Given the description of an element on the screen output the (x, y) to click on. 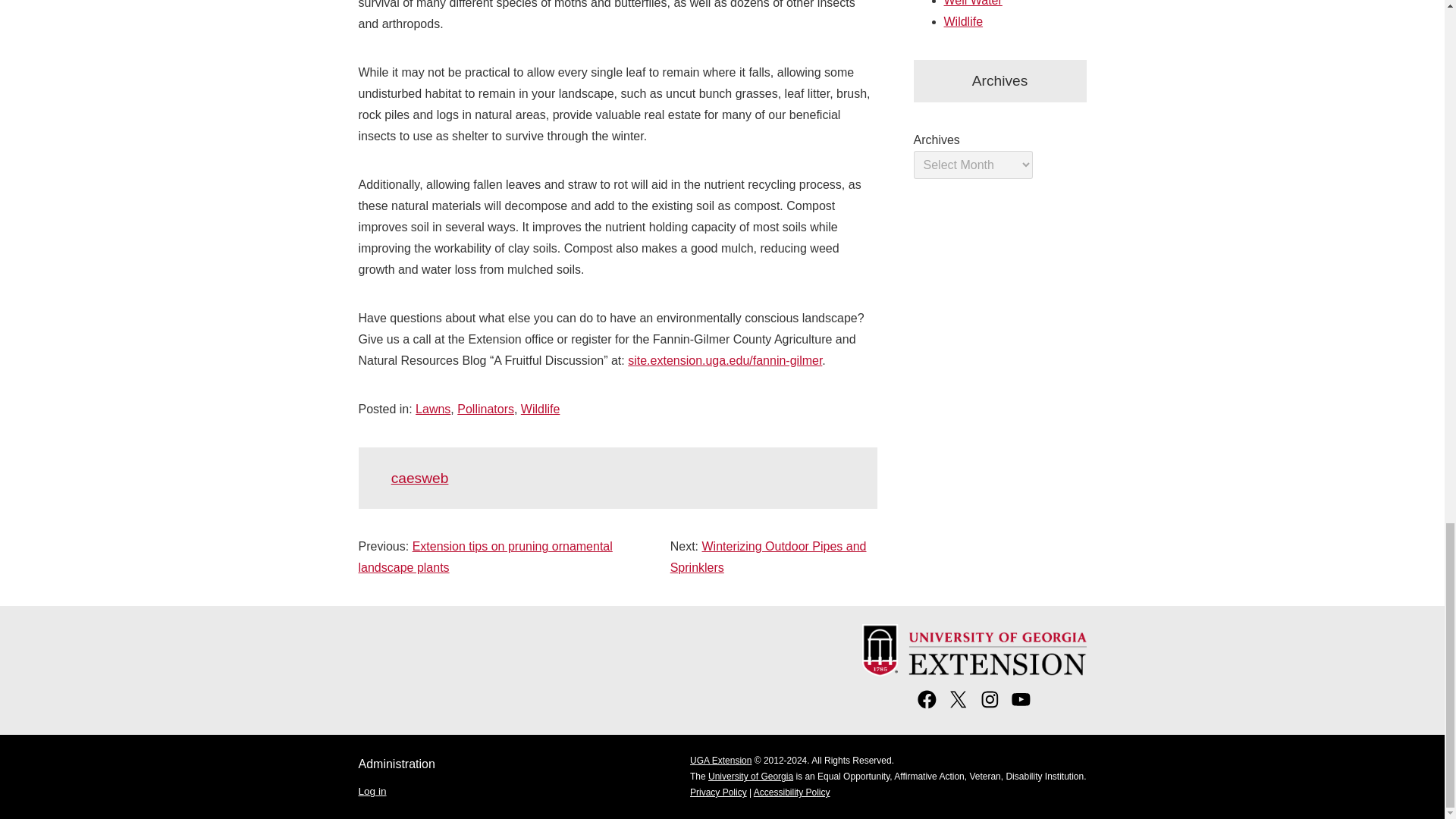
Winterizing Outdoor Pipes and Sprinklers (767, 556)
Wildlife (540, 408)
Extension tips on pruning ornamental landscape plants (484, 556)
caesweb (419, 478)
Lawns (431, 408)
Pollinators (485, 408)
